Given the description of an element on the screen output the (x, y) to click on. 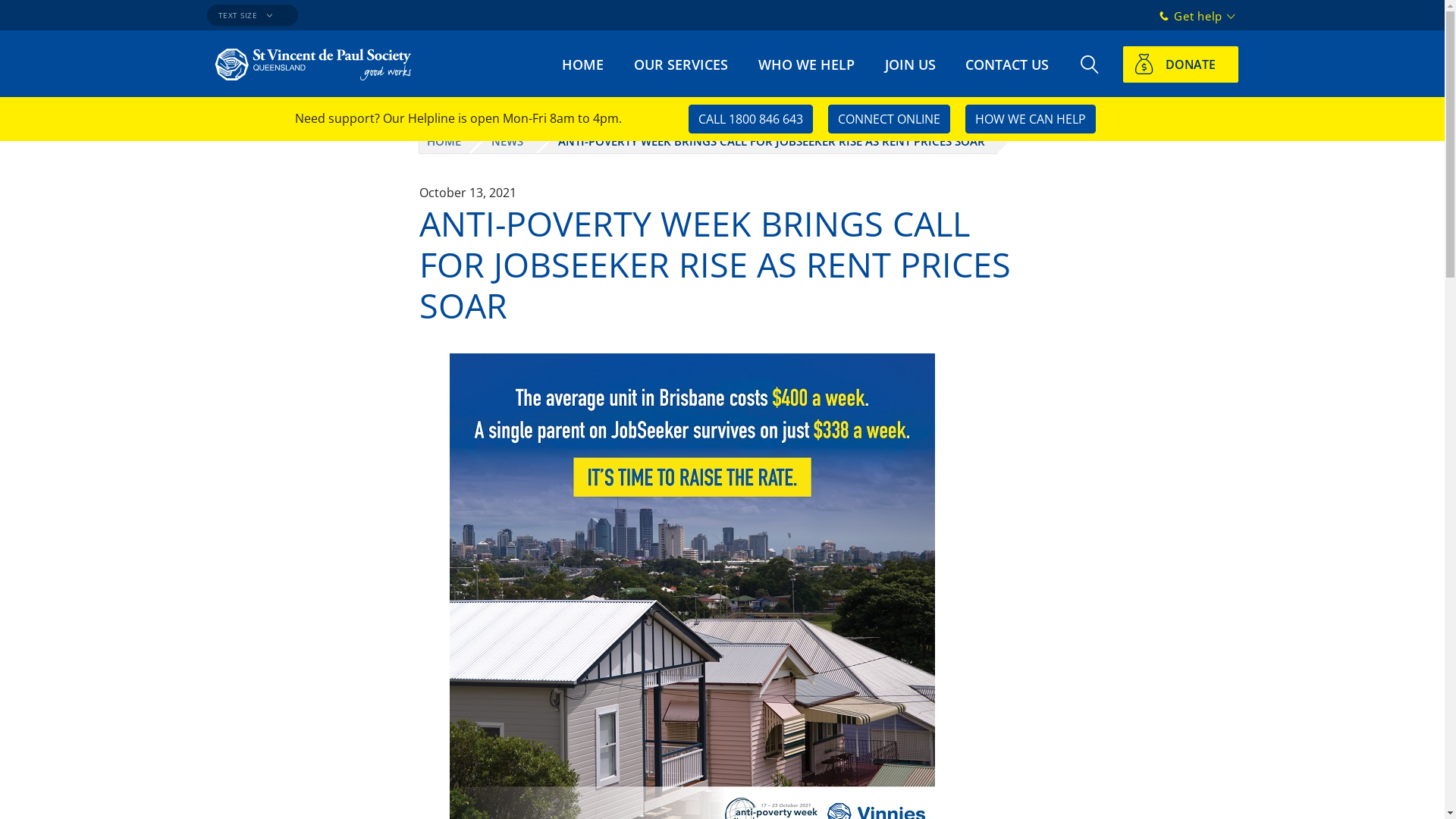
HOW WE CAN HELP Element type: text (1029, 118)
CONNECT ONLINE Element type: text (889, 117)
CALL 1800 846 643 Element type: text (750, 117)
OUR SERVICES Element type: text (680, 64)
DONATE Element type: text (1180, 64)
CONTACT US Element type: text (1006, 64)
St Vincent de Paul Society QLD Element type: hover (319, 68)
JOIN US Element type: text (909, 64)
HOME Element type: text (582, 64)
HOW WE CAN HELP Element type: text (1029, 117)
HOME Element type: text (442, 140)
CONNECT ONLINE Element type: text (889, 118)
WHO WE HELP Element type: text (806, 64)
CALL 1800 846 643 Element type: text (750, 118)
NEWS Element type: text (503, 140)
